Given the description of an element on the screen output the (x, y) to click on. 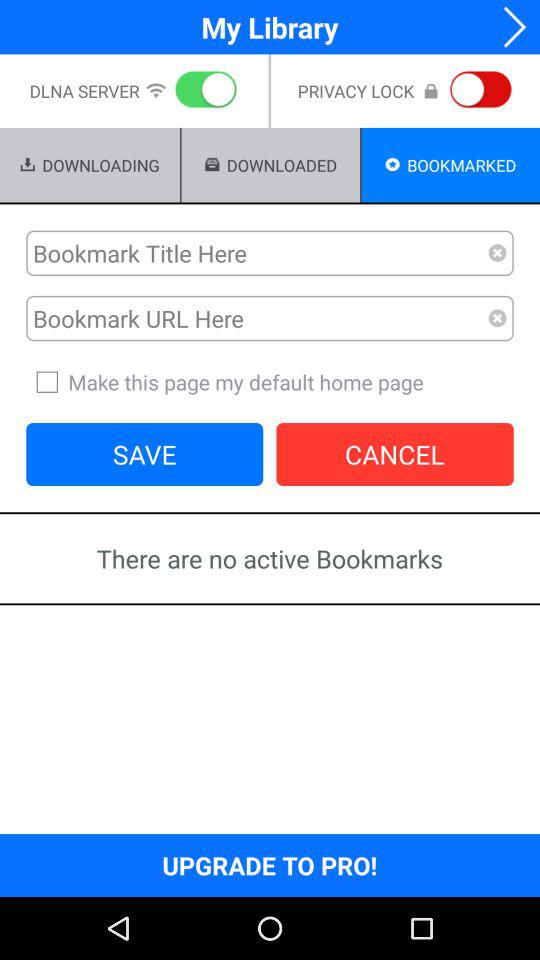
turn on the save on the left (144, 454)
